Given the description of an element on the screen output the (x, y) to click on. 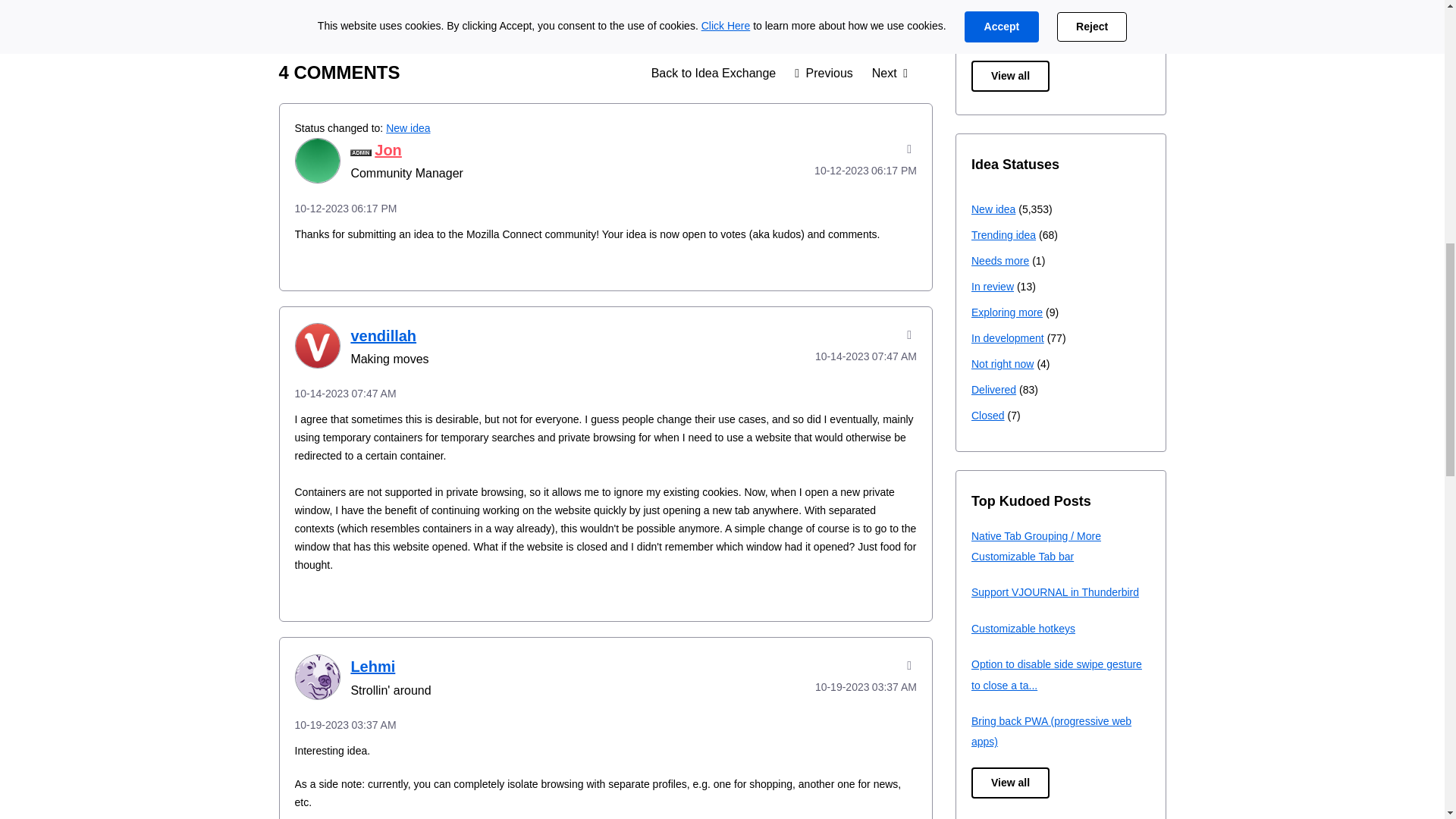
Search History in a separate tab (823, 72)
Jon (316, 160)
Posted on (845, 170)
Comment (872, 2)
Community Manager (360, 152)
Click here to see who gave kudos to this post. (342, 1)
option for when the only tab is closed, create a new tab (889, 72)
15 (342, 1)
Posted on (605, 208)
Ideas (714, 72)
Click here to give kudos to this post. (307, 3)
